Given the description of an element on the screen output the (x, y) to click on. 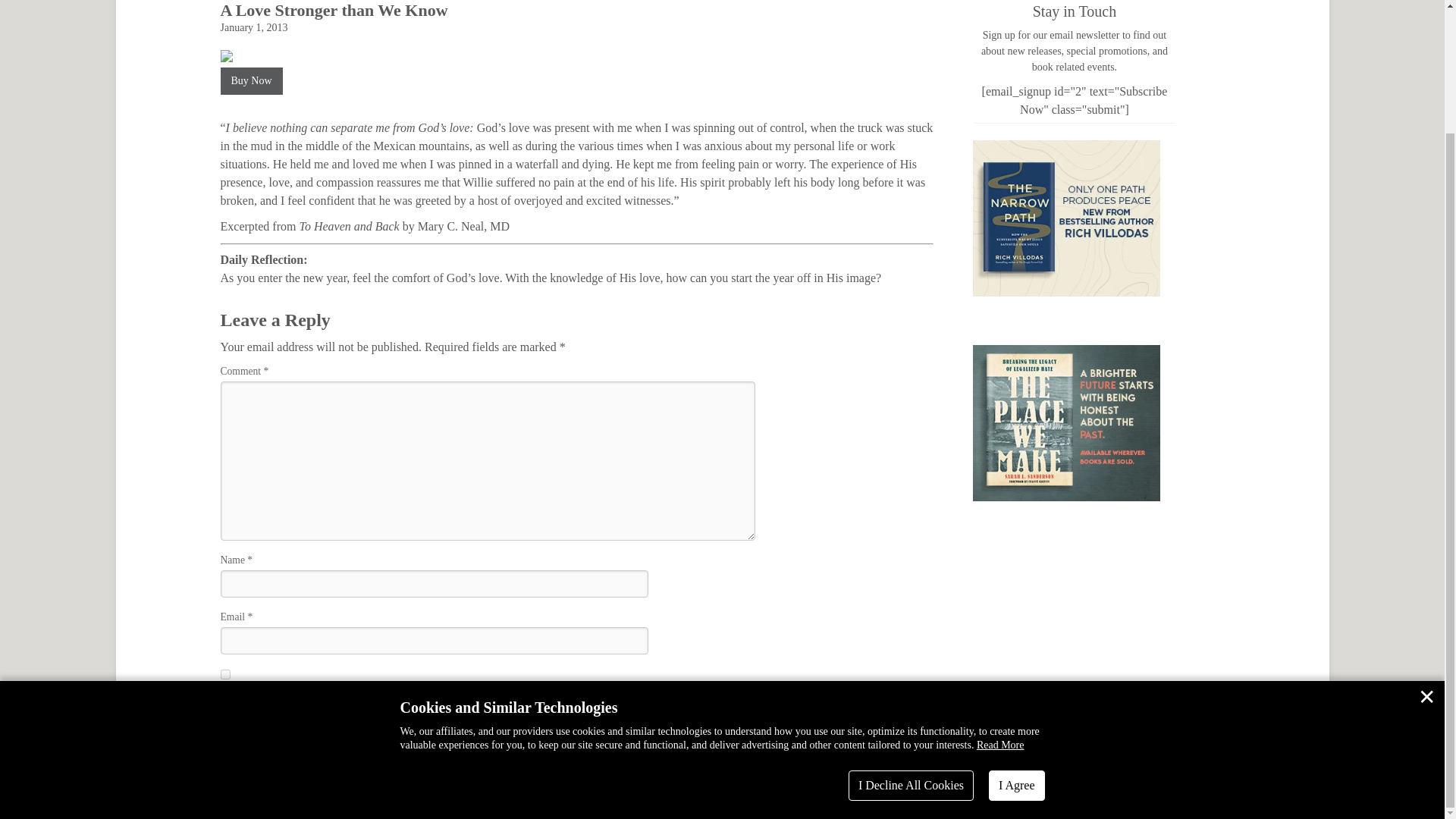
Buy Now (250, 81)
A Love Stronger than We Know (332, 9)
Post Comment (707, 726)
yes (224, 674)
